Given the description of an element on the screen output the (x, y) to click on. 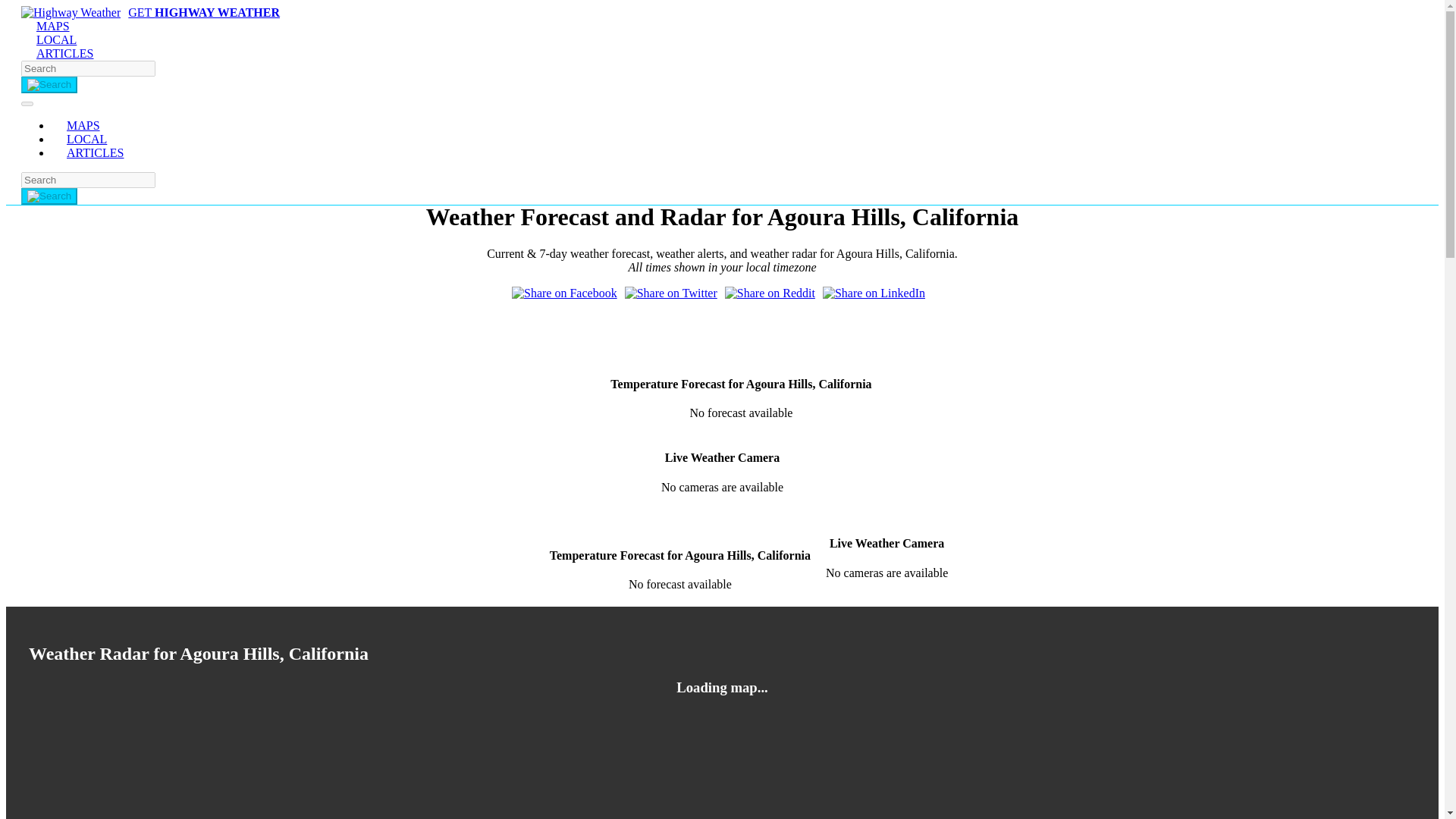
MAPS (52, 25)
MAPS (82, 124)
GET HIGHWAY WEATHER (150, 11)
MAPS (52, 25)
LOCAL (56, 39)
ARTICLES (102, 152)
LOCAL (56, 39)
GET HIGHWAY WEATHER (150, 11)
ARTICLES (64, 52)
ARTICLES (64, 52)
ARTICLES (102, 152)
LOCAL (86, 138)
MAPS (82, 124)
LOCAL (86, 138)
